Given the description of an element on the screen output the (x, y) to click on. 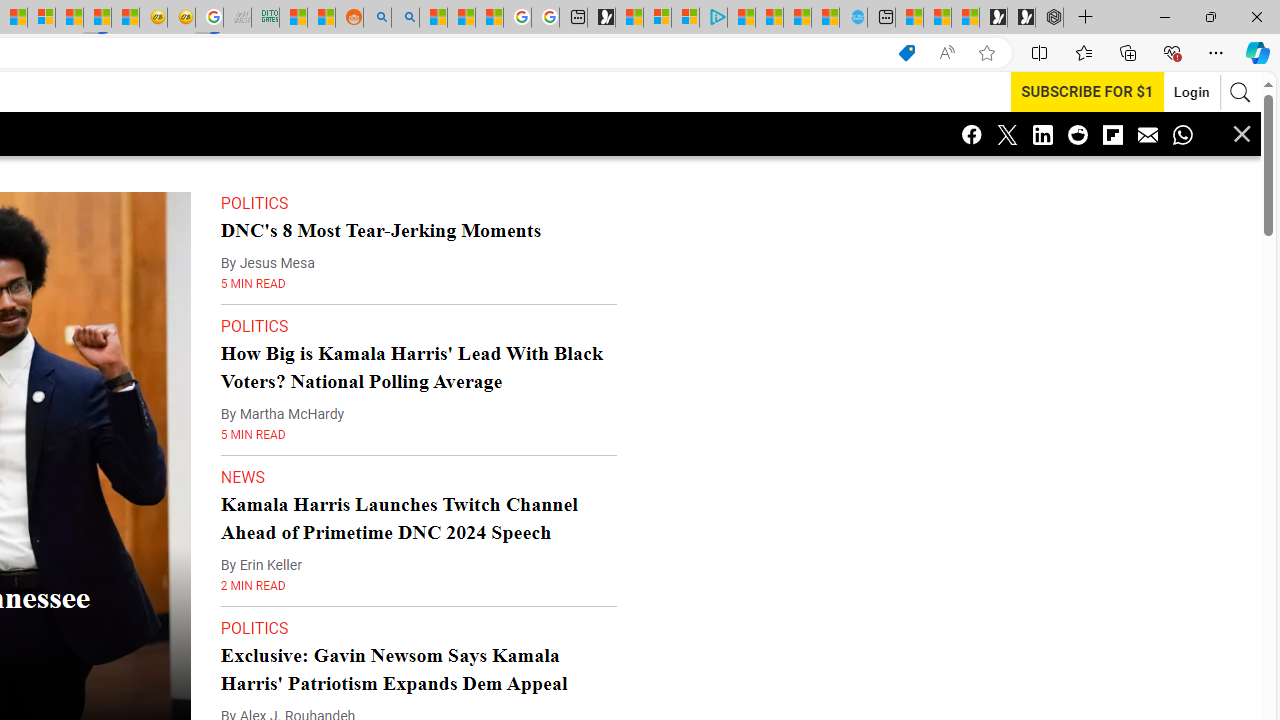
Utah sues federal government - Search (404, 17)
DNC's 8 Most Tear-Jerking Moments (380, 229)
Login (1192, 92)
Nordace - Nordace Siena Is Not An Ordinary Backpack (1049, 17)
Class: icon icon-email (1147, 133)
DITOGAMES AG Imprint (265, 17)
Microsoft account | Privacy (685, 17)
